Given the description of an element on the screen output the (x, y) to click on. 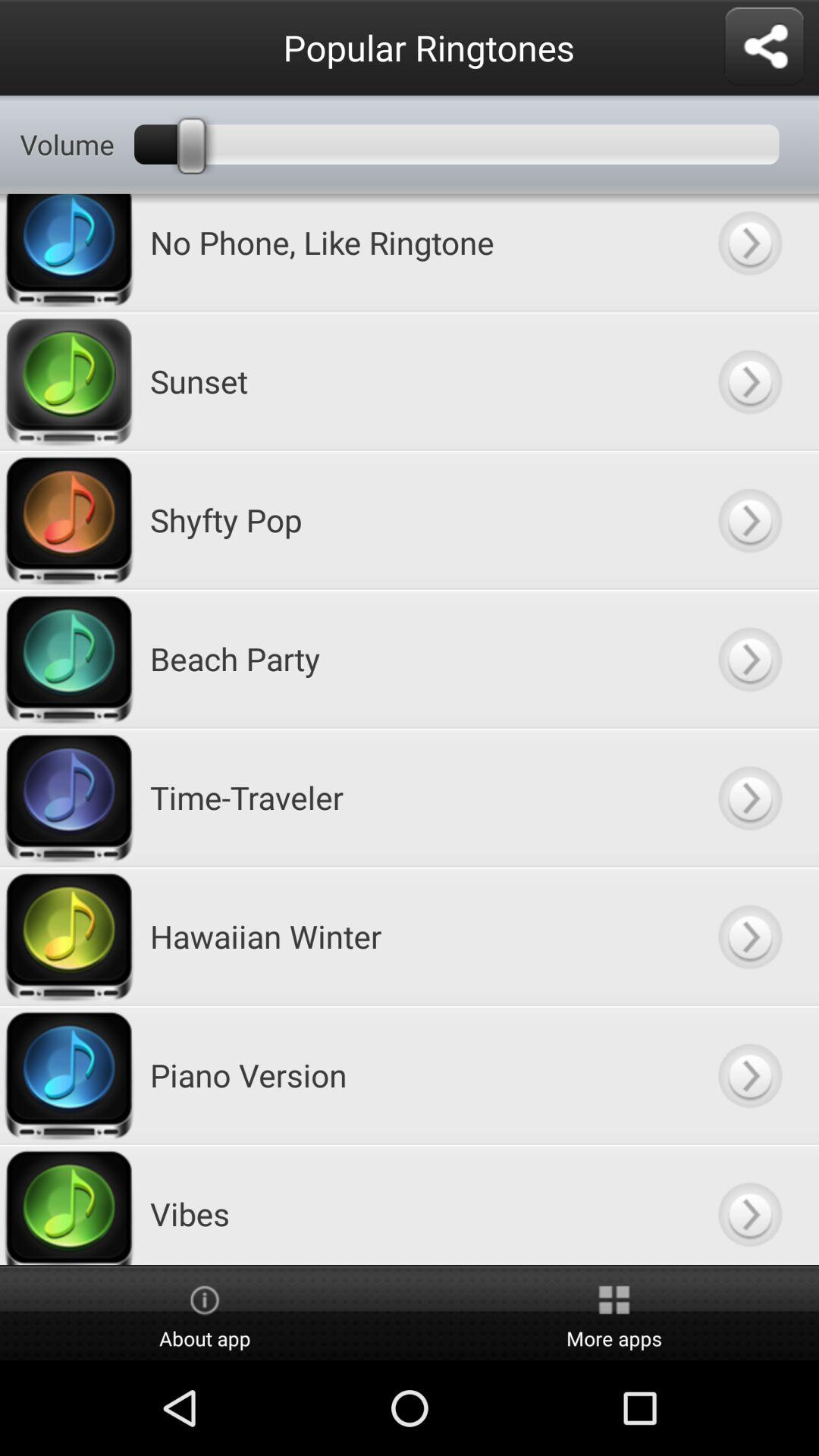
piano version (749, 1075)
